Given the description of an element on the screen output the (x, y) to click on. 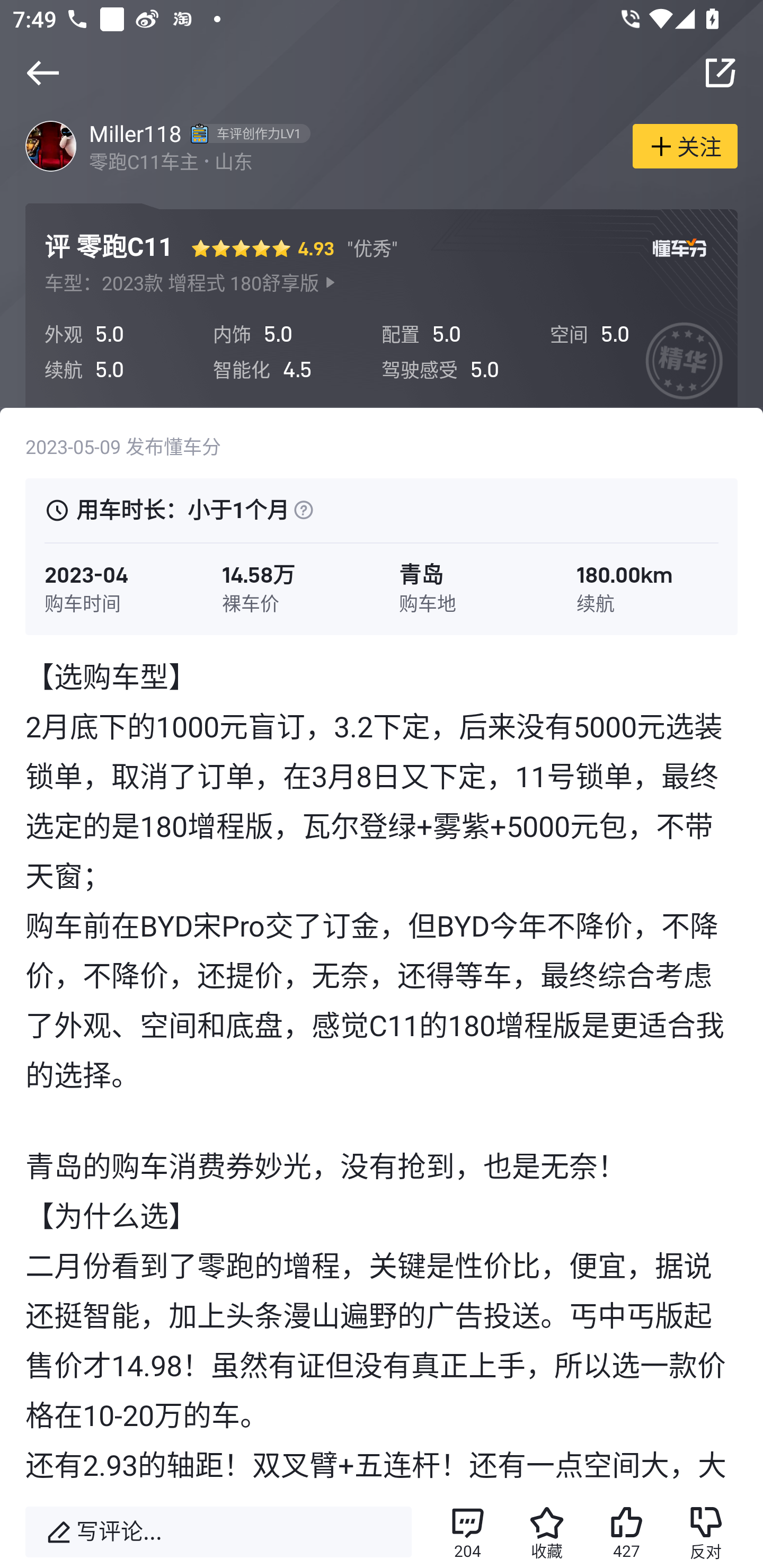
 (42, 72)
 (720, 72)
车评创作力LV1 (247, 133)
 关注 (684, 145)
车型：2023款 增程式 180舒享版  (190, 282)
 (303, 509)
 204 (467, 1531)
收藏 (546, 1531)
427 (625, 1531)
反对 (705, 1531)
 写评论... (218, 1531)
